Given the description of an element on the screen output the (x, y) to click on. 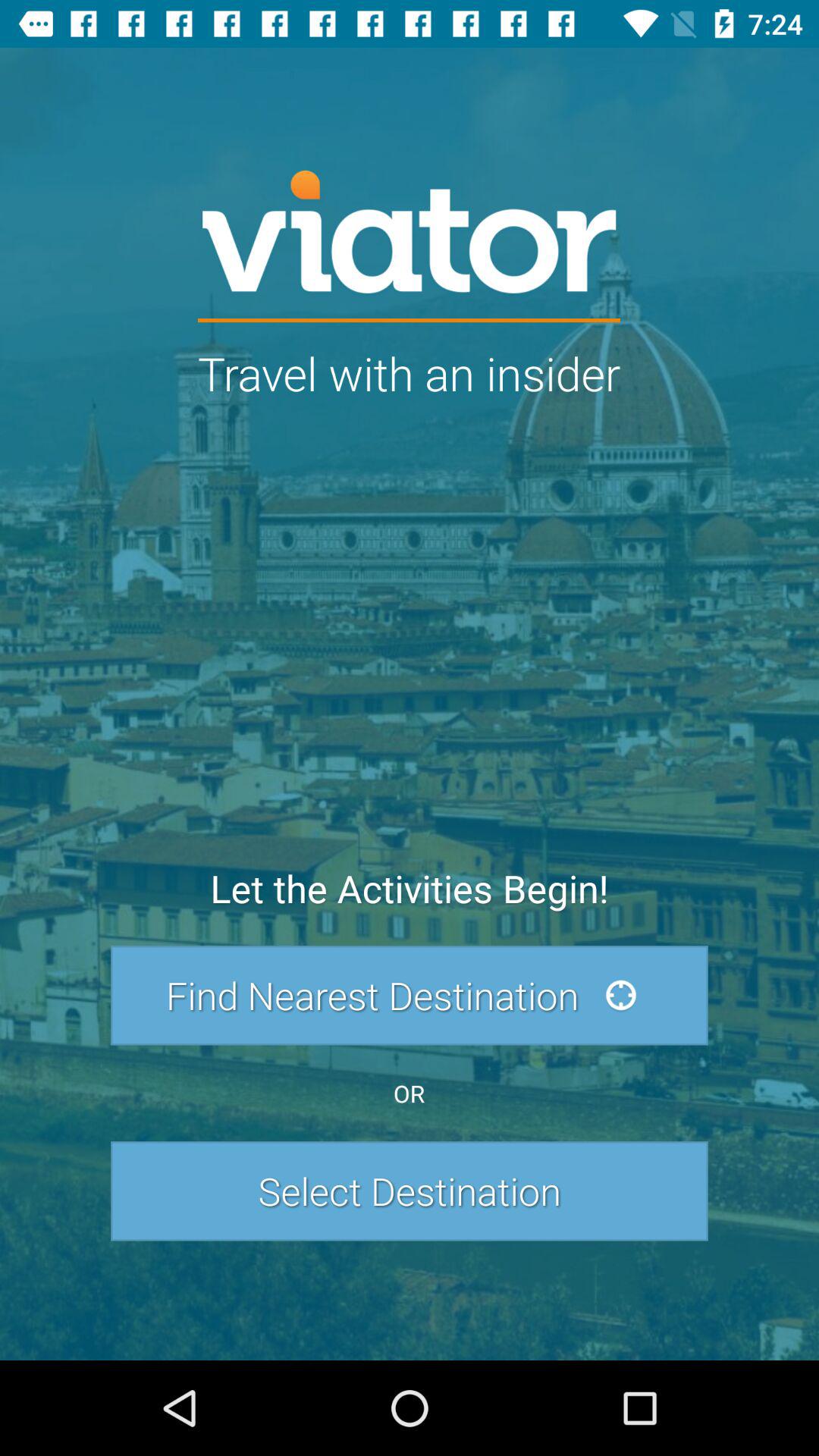
choose icon below the or icon (409, 1191)
